Given the description of an element on the screen output the (x, y) to click on. 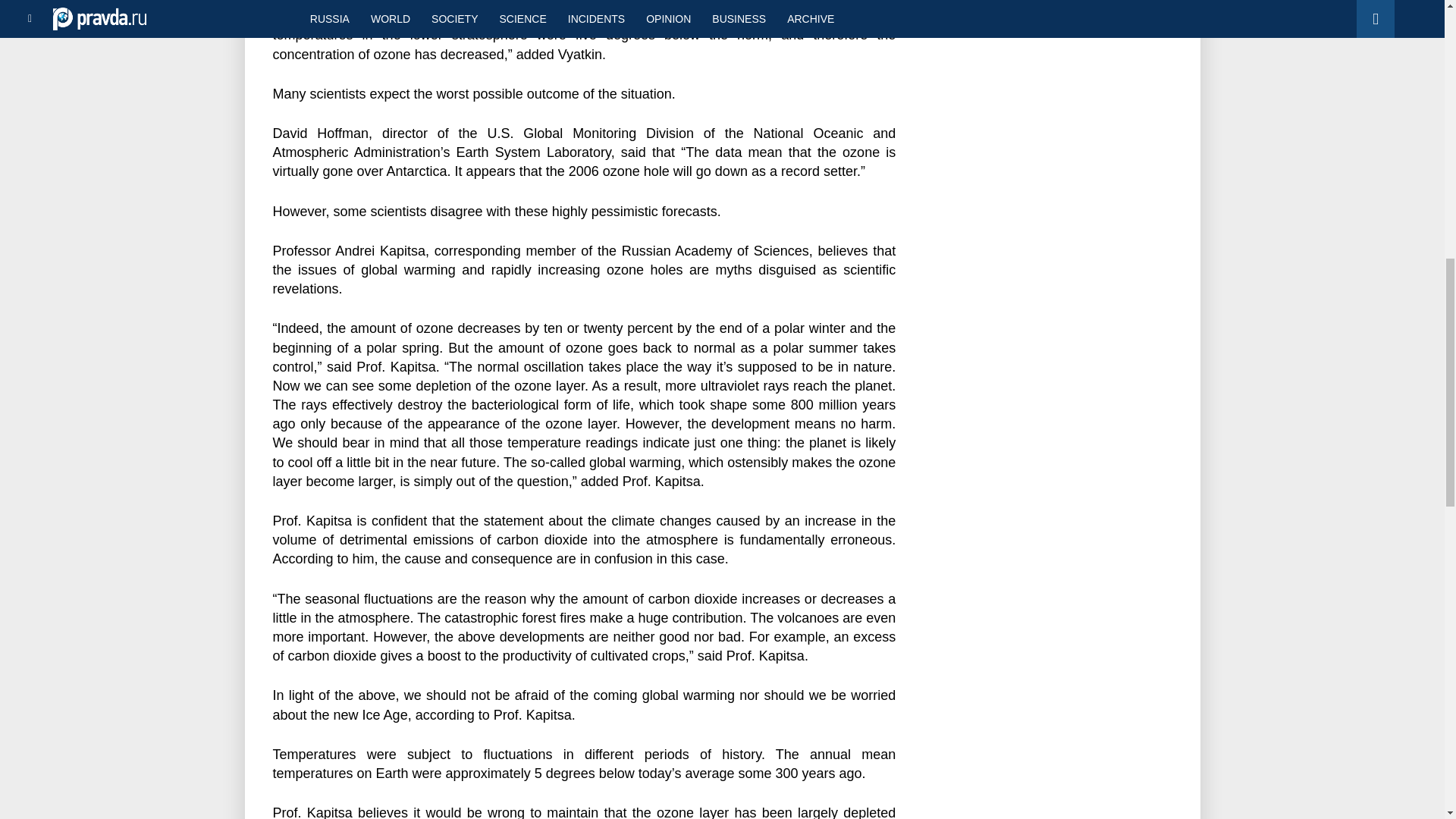
Back to top (1418, 79)
